Given the description of an element on the screen output the (x, y) to click on. 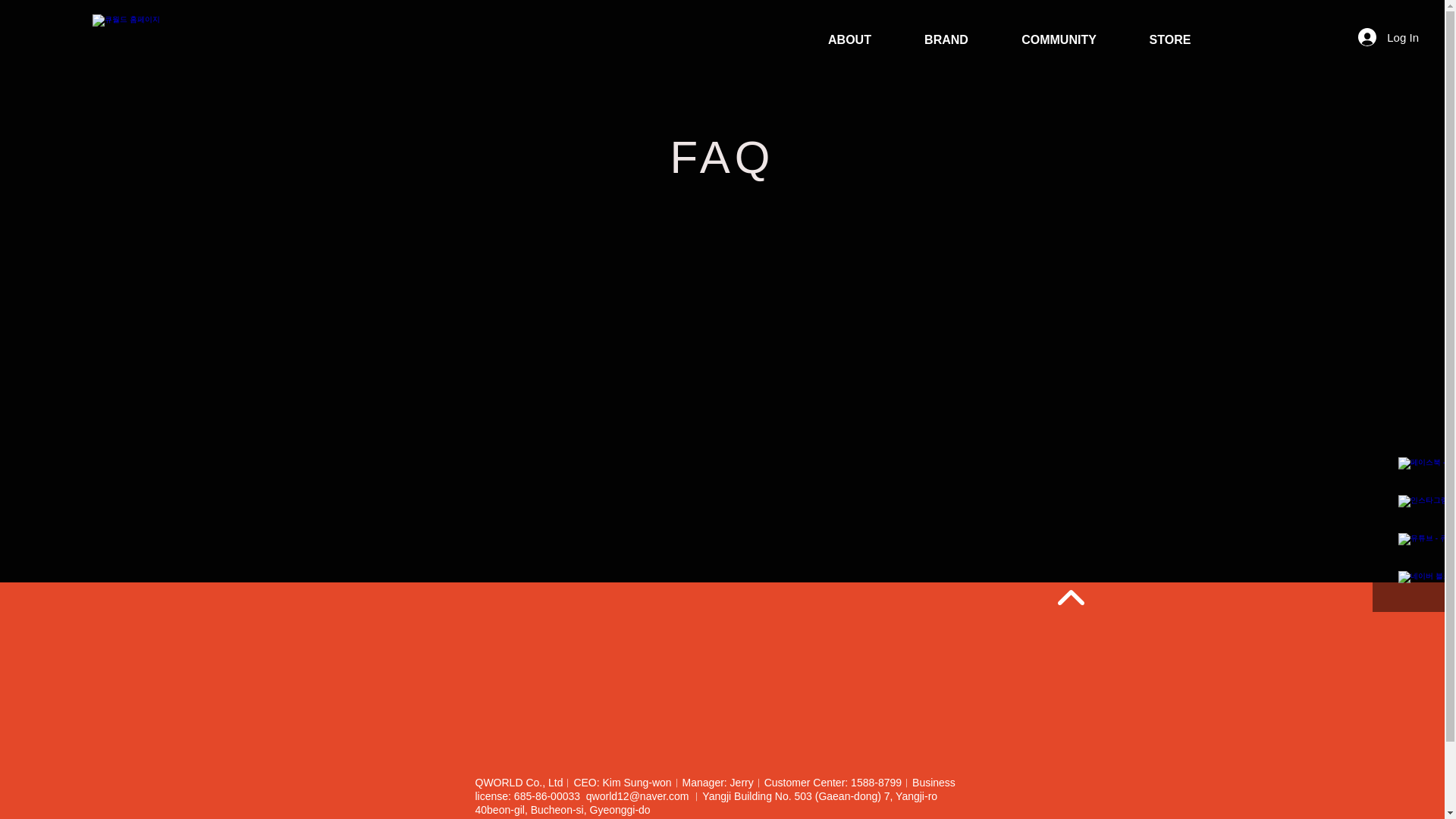
ABOUT (850, 39)
Log In (1388, 36)
BRAND (946, 39)
COMMUNITY (1058, 39)
STORE (1169, 39)
